Given the description of an element on the screen output the (x, y) to click on. 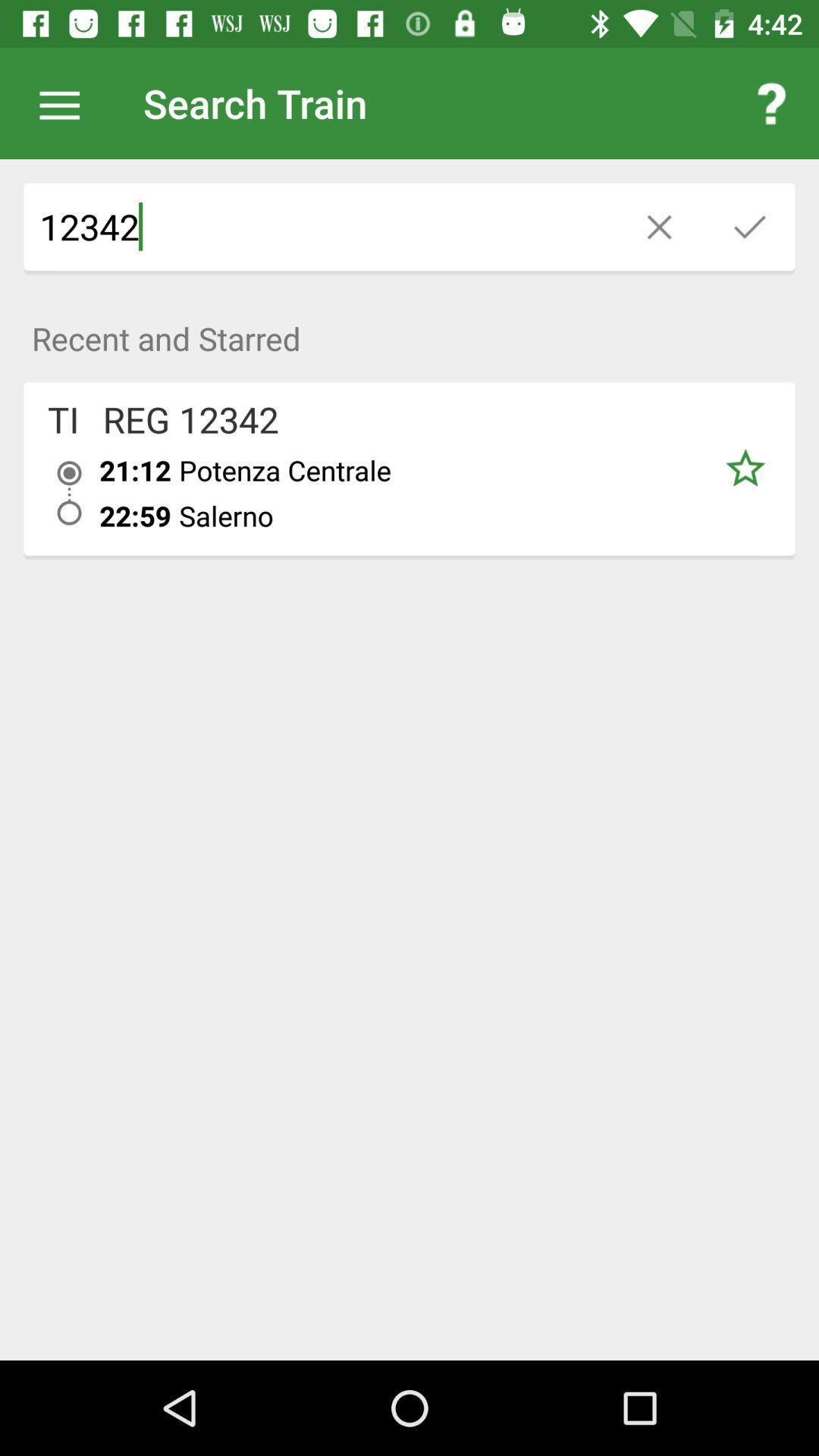
select recent and starred (409, 330)
